Given the description of an element on the screen output the (x, y) to click on. 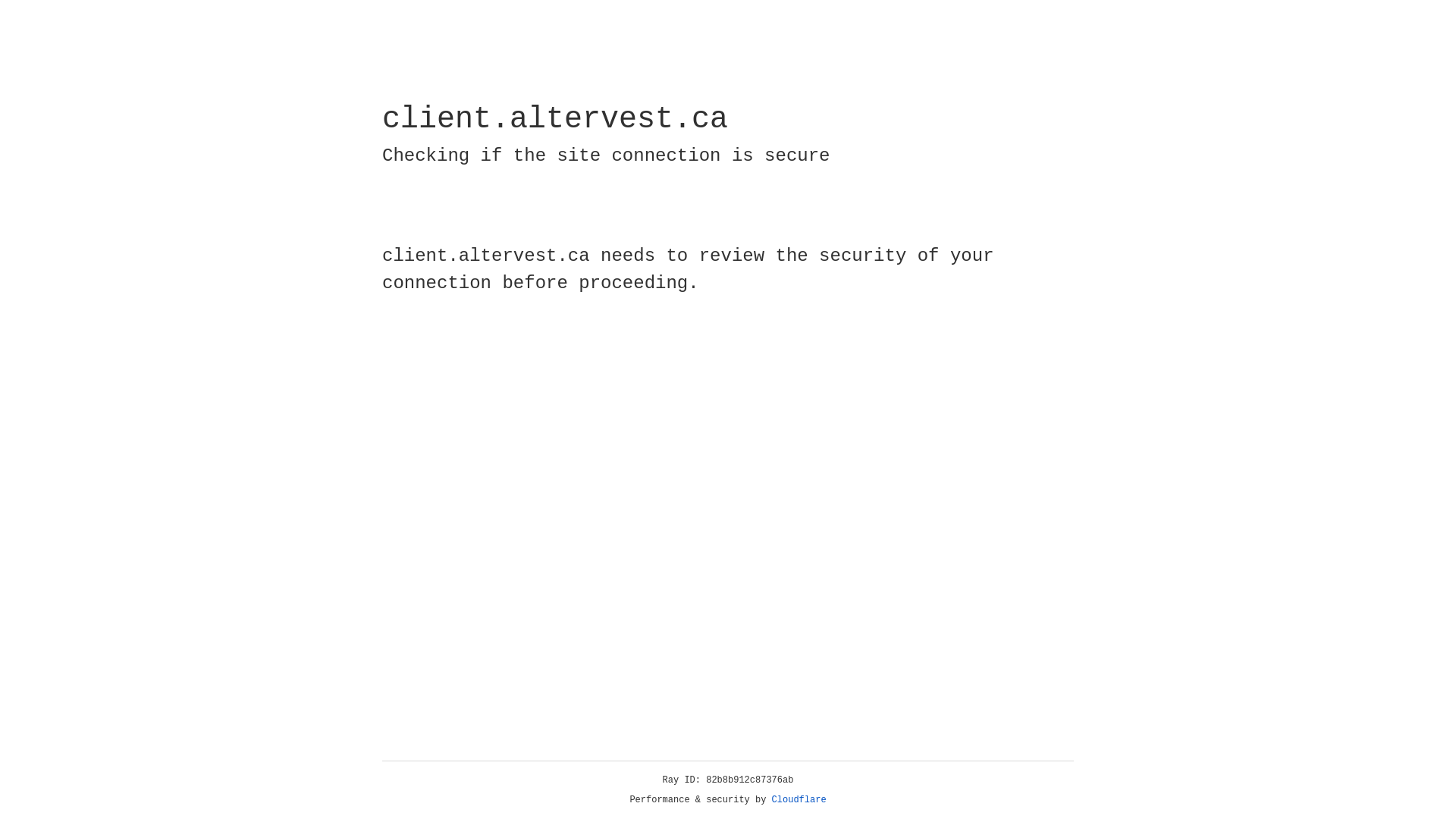
Cloudflare Element type: text (798, 799)
